Given the description of an element on the screen output the (x, y) to click on. 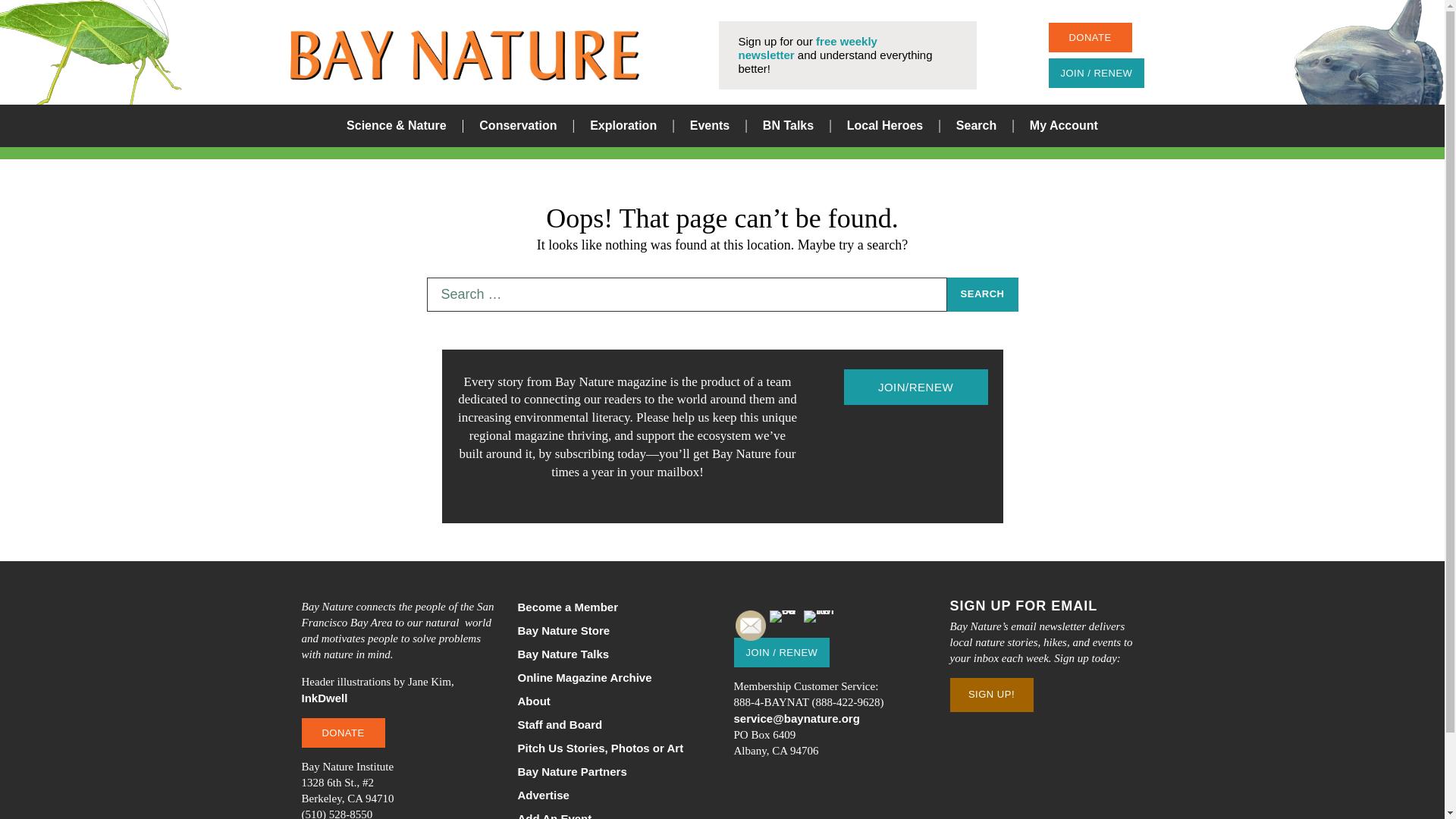
BN Talks (787, 125)
DONATE (1089, 37)
Staff and Board (613, 724)
Bay Nature Talks (613, 653)
Facebook (784, 625)
Subscribe (915, 386)
Search (975, 125)
Local Heroes (885, 125)
Events (709, 125)
Become a Member (613, 606)
